Given the description of an element on the screen output the (x, y) to click on. 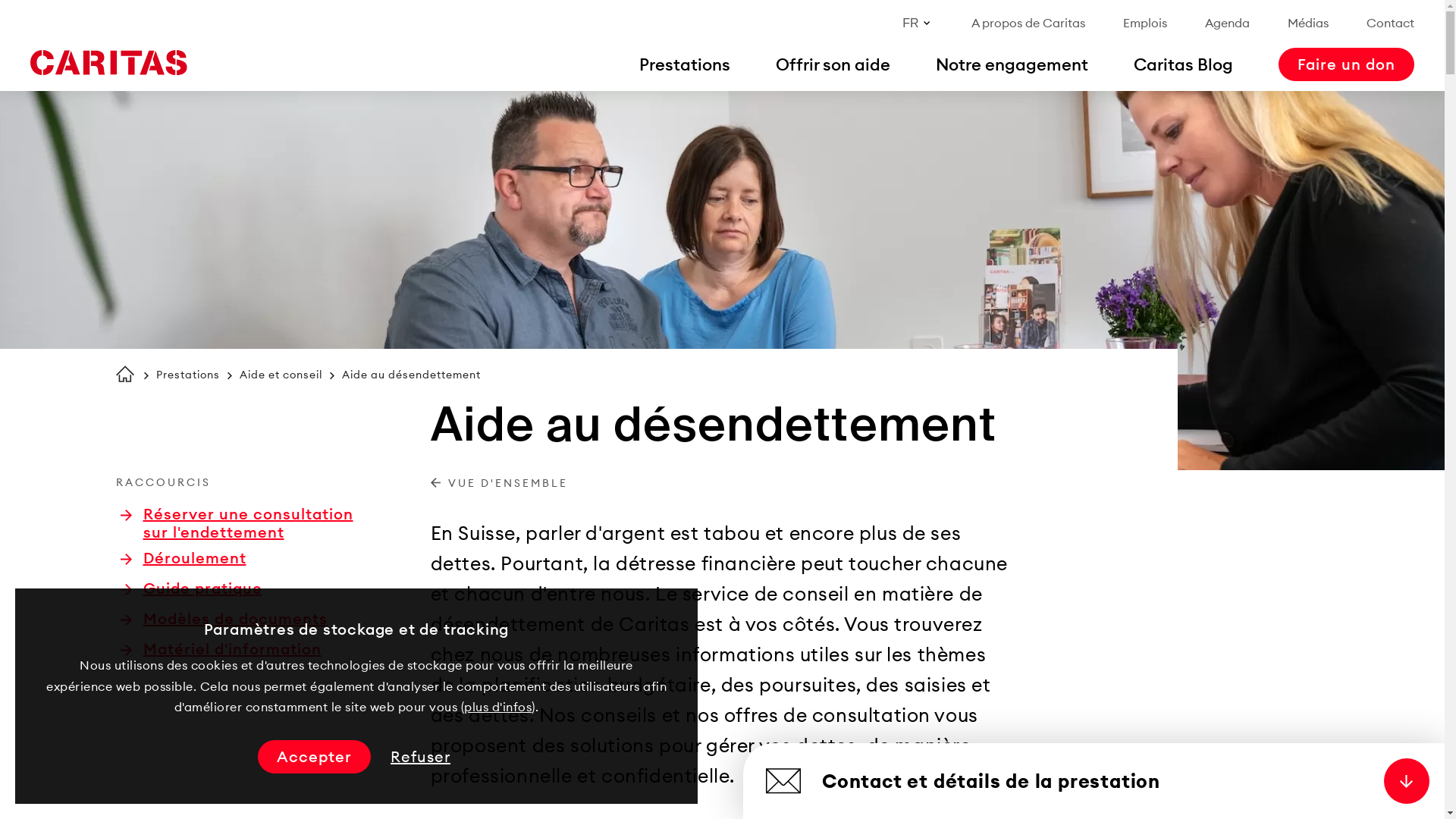
Agenda Element type: text (1226, 22)
Aide et conseil Element type: text (280, 375)
Prestations Element type: text (187, 375)
Accepter Element type: text (313, 756)
Emplois Element type: text (1145, 22)
Page d'accueil Element type: text (124, 373)
Guide pratique Element type: text (190, 588)
Faire un don Element type: text (1346, 64)
Prestations Element type: text (684, 64)
Caritas Blog Element type: text (1183, 64)
A propos de Caritas Element type: text (1028, 22)
Refuser Element type: text (420, 756)
Page d'accueil Element type: text (108, 62)
plus d'infos Element type: text (497, 706)
Offrir son aide Element type: text (832, 64)
VUE D'ENSEMBLE Element type: text (498, 482)
Notre engagement Element type: text (1011, 64)
Open sub menu Element type: text (18, 18)
Contact Element type: text (1390, 22)
